Given the description of an element on the screen output the (x, y) to click on. 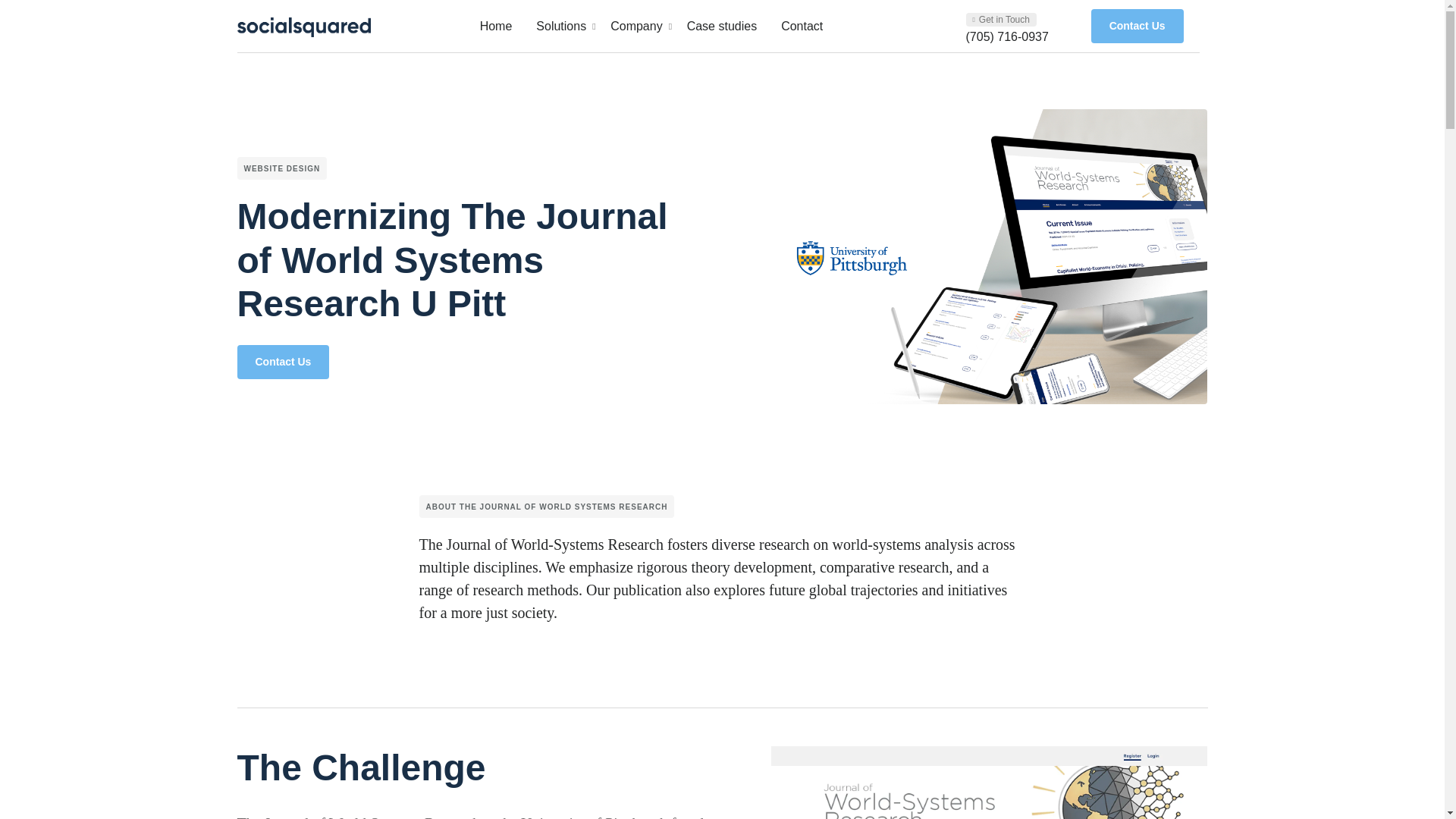
Home (496, 26)
Case studies (721, 26)
Company (636, 26)
Contact Us (717, 26)
Get in Touch (1136, 26)
Contact (1001, 19)
Solutions (802, 26)
